Given the description of an element on the screen output the (x, y) to click on. 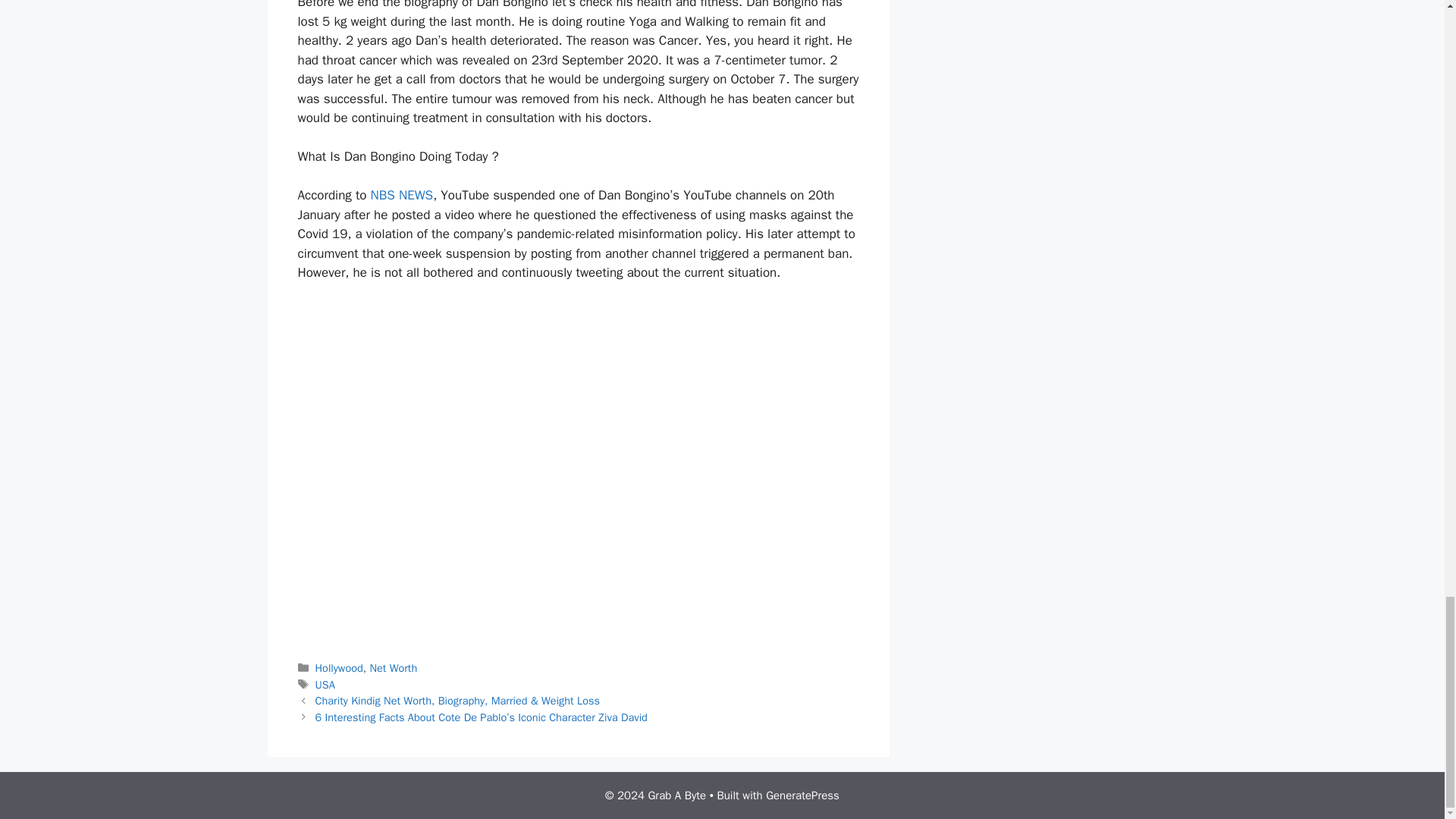
Net Worth (392, 667)
GeneratePress (802, 795)
Hollywood (338, 667)
USA (324, 684)
NBS NEWS (402, 195)
